Given the description of an element on the screen output the (x, y) to click on. 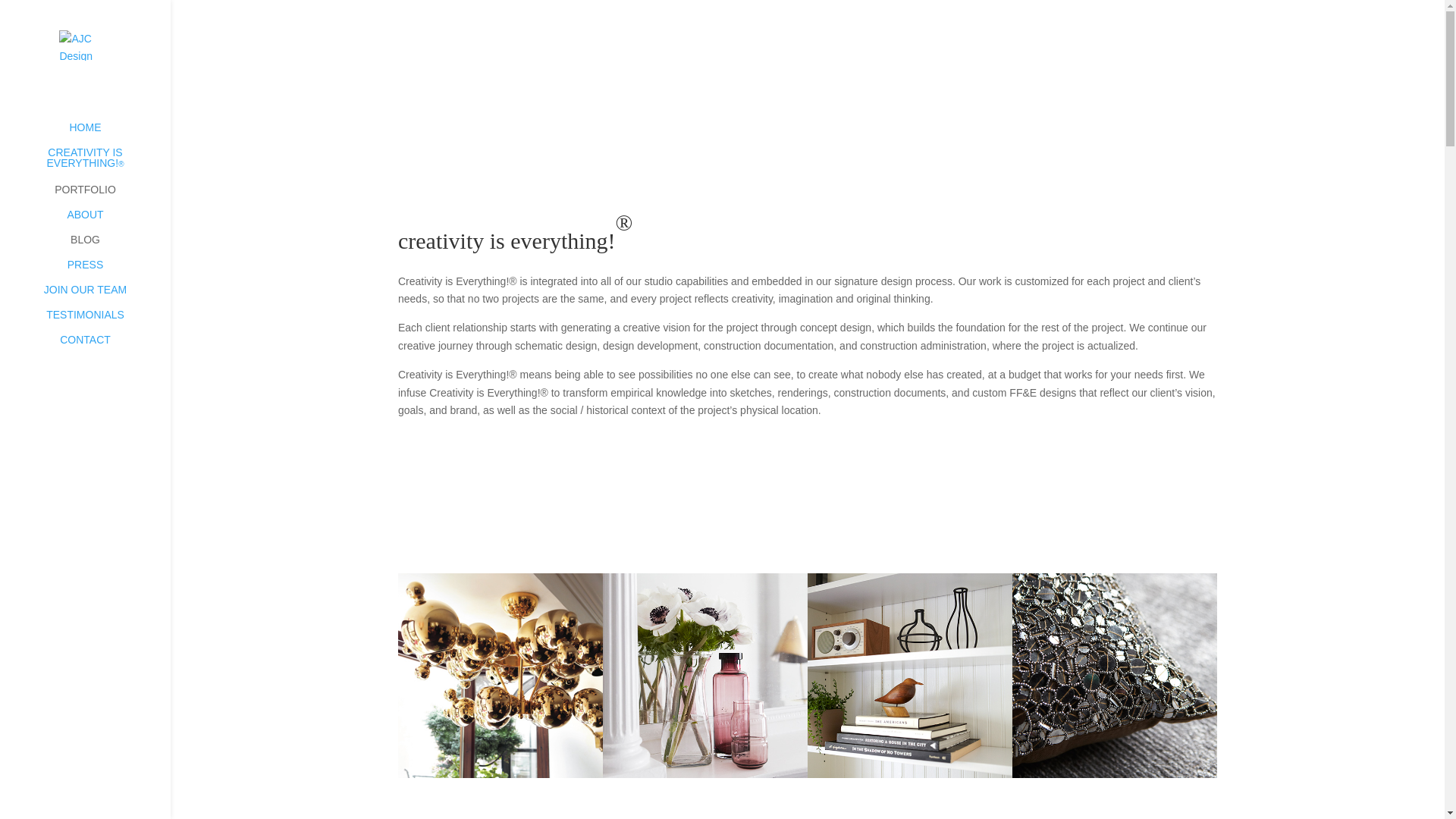
CONTACT (100, 346)
ABOUT (100, 221)
about-pic-2 (909, 675)
BLOG (100, 246)
about-pic-2 (705, 675)
about-pic-2 (1114, 675)
PORTFOLIO (100, 196)
PRESS (100, 271)
JOIN OUR TEAM (100, 296)
about-pic-2 (499, 675)
